Given the description of an element on the screen output the (x, y) to click on. 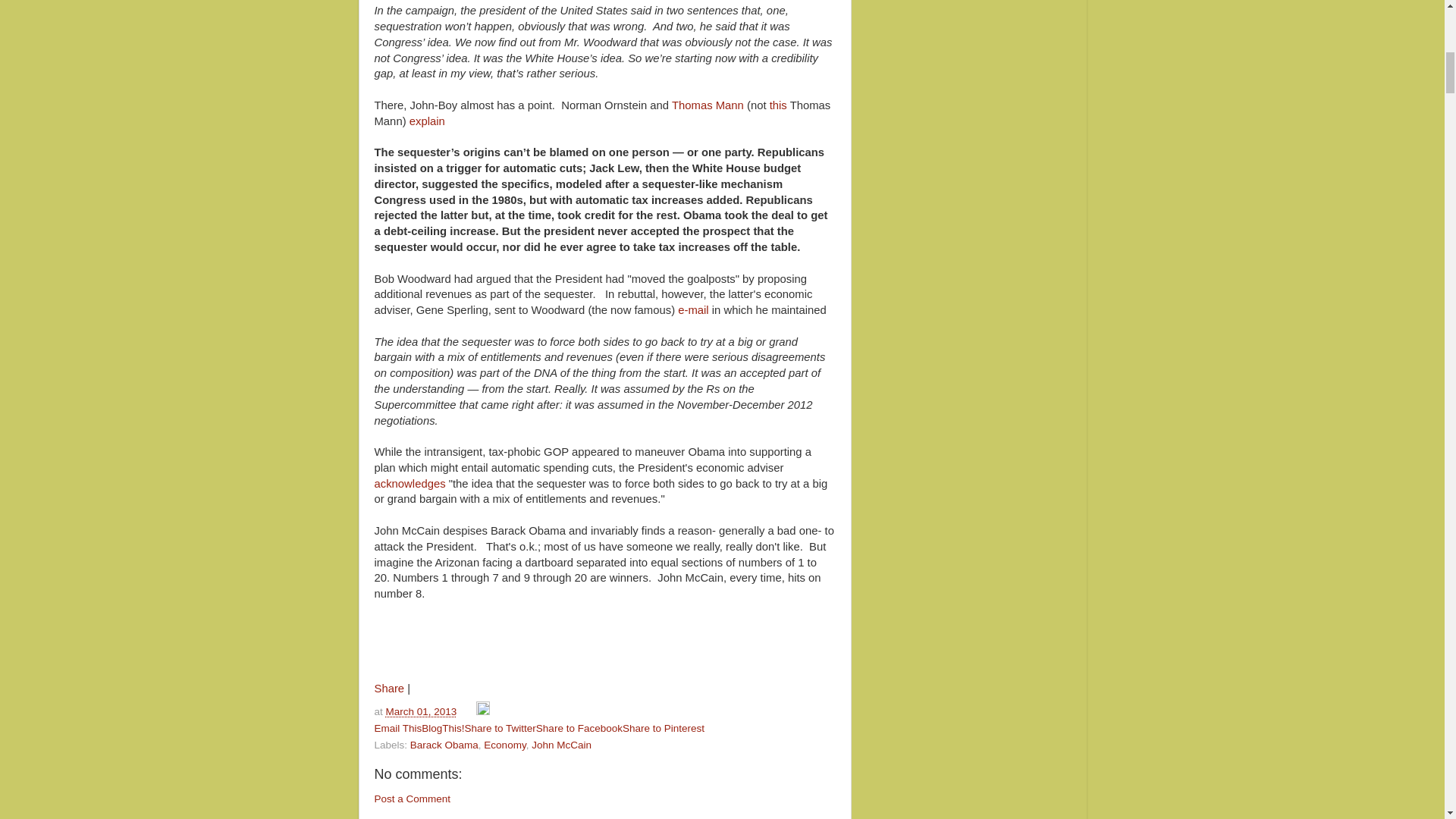
Email This (398, 727)
Thomas Mann (707, 105)
Share to Twitter (499, 727)
Share to Pinterest (663, 727)
Share (389, 688)
Edit Post (482, 711)
Post a Comment (412, 798)
Barack Obama (444, 745)
Economy (504, 745)
this (778, 105)
Share to Twitter (499, 727)
permanent link (421, 711)
Email Post (468, 711)
Share to Facebook (579, 727)
BlogThis! (443, 727)
